Given the description of an element on the screen output the (x, y) to click on. 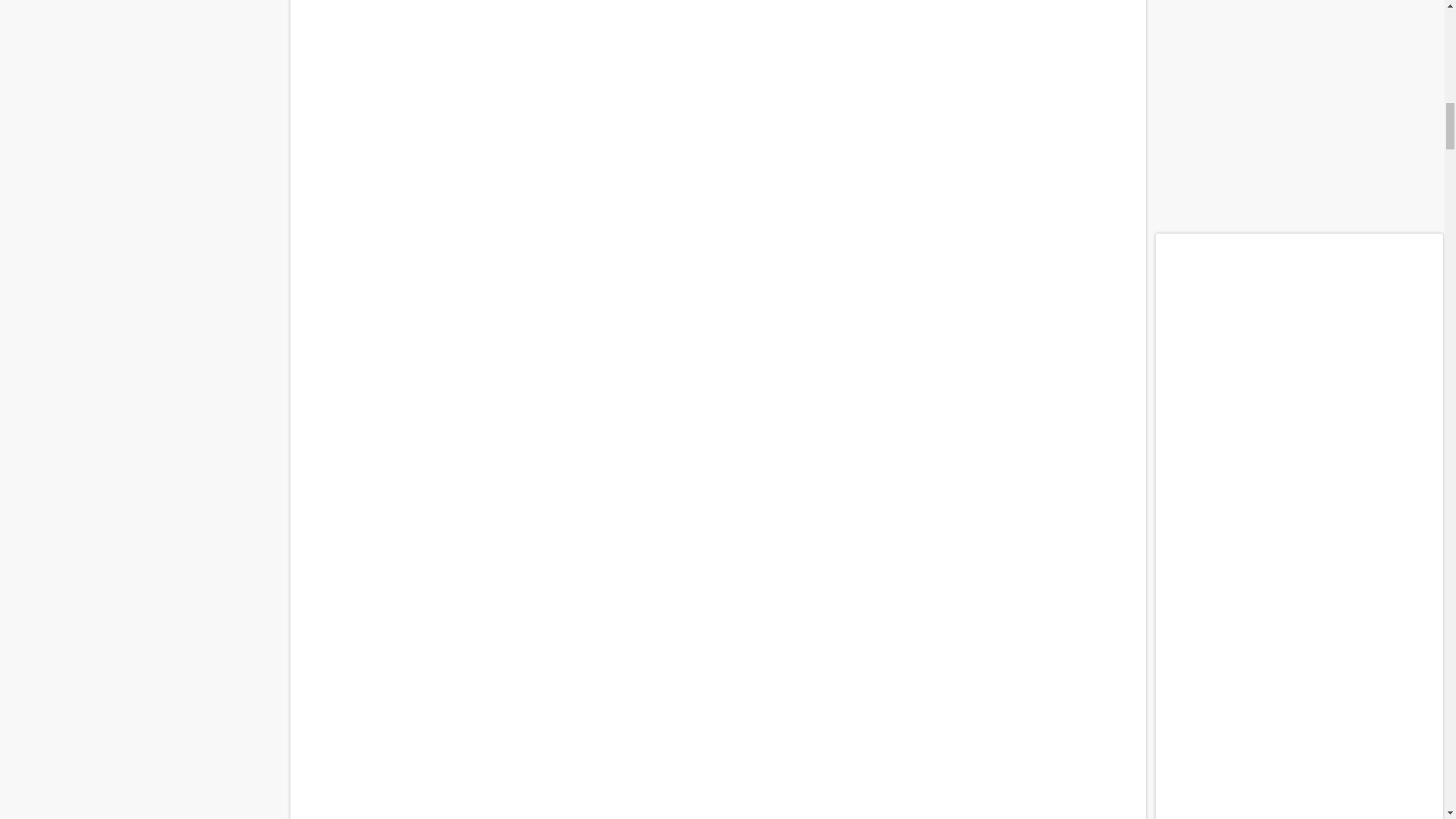
Learn Prepositions by Photos (717, 645)
